Given the description of an element on the screen output the (x, y) to click on. 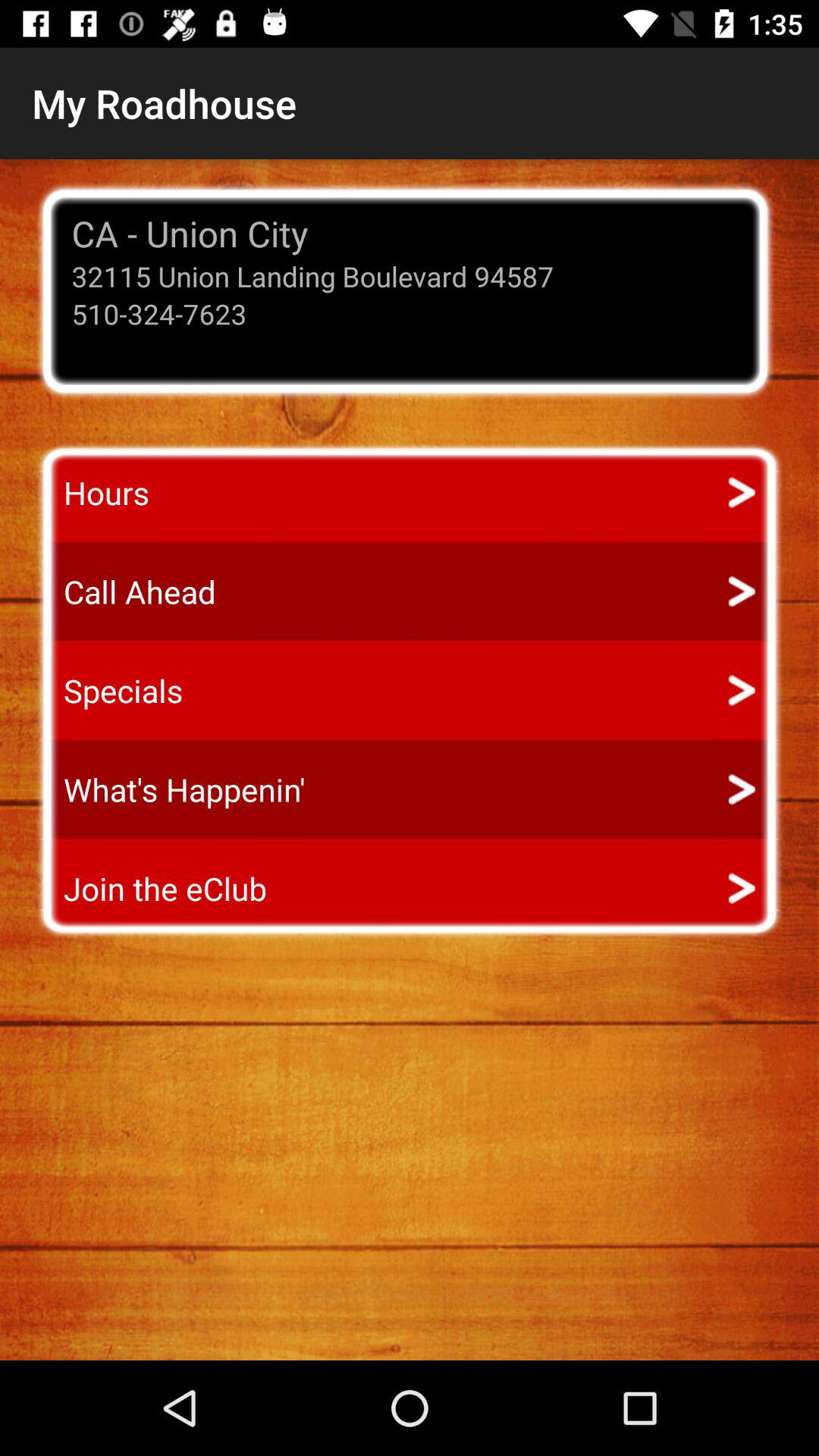
press icon below the what's happenin' app (150, 888)
